Given the description of an element on the screen output the (x, y) to click on. 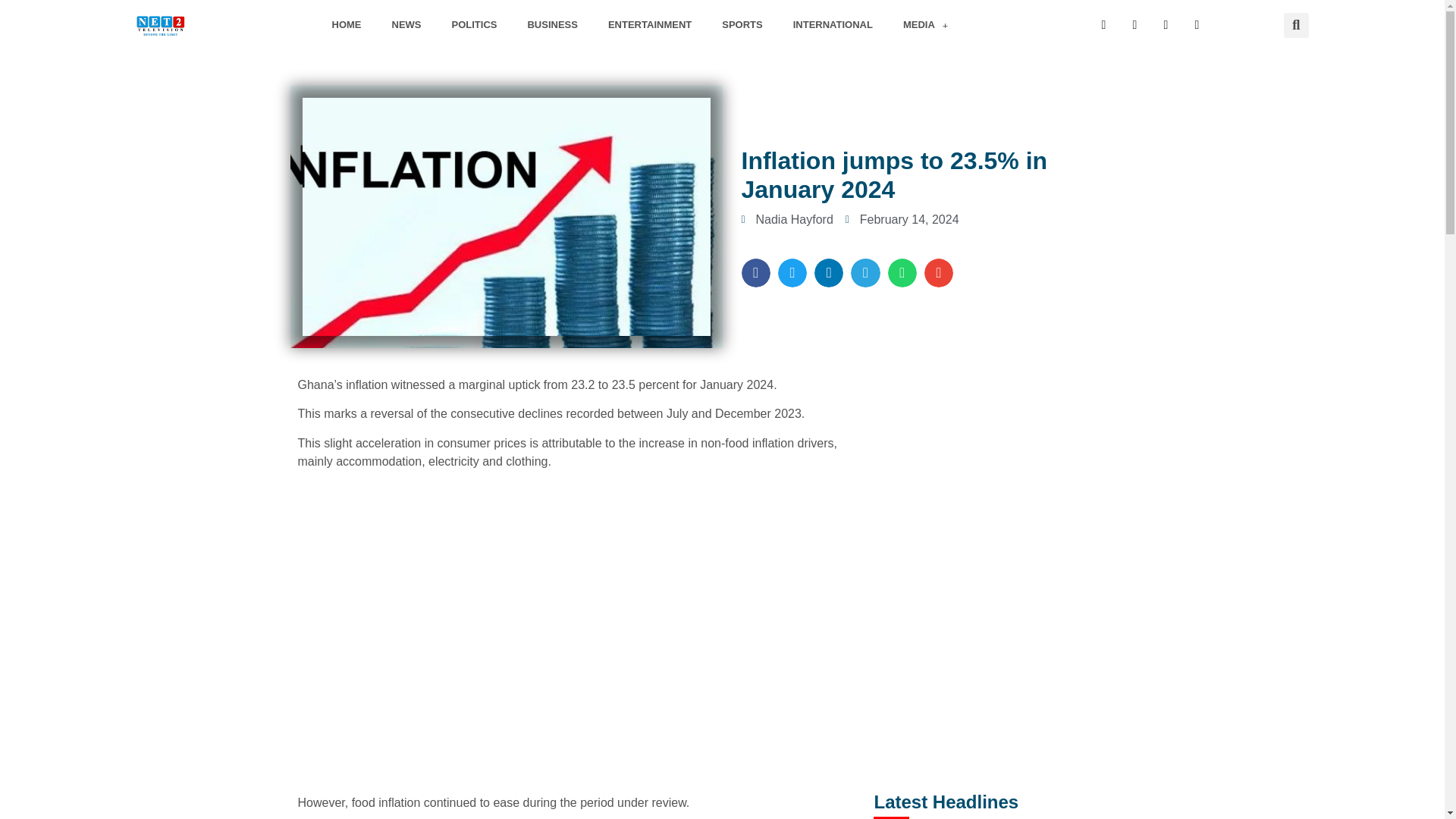
BUSINESS (552, 24)
ENTERTAINMENT (649, 24)
NEWS (406, 24)
SPORTS (741, 24)
INTERNATIONAL (832, 24)
HOME (347, 24)
MEDIA (925, 24)
POLITICS (474, 24)
